Given the description of an element on the screen output the (x, y) to click on. 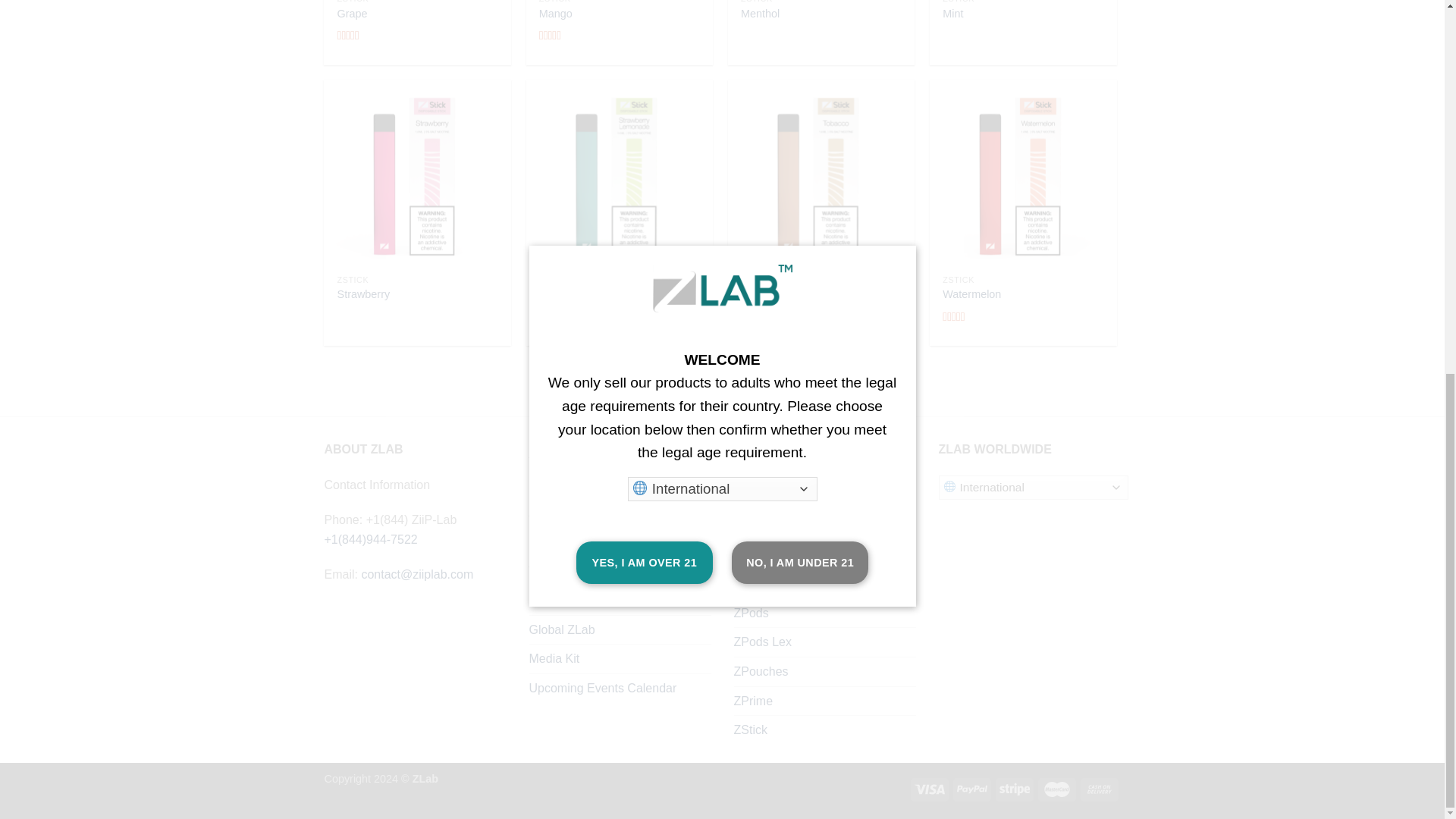
Mango (555, 13)
Grape (352, 13)
Mint (952, 13)
Strawberry (363, 294)
Menthol (759, 13)
